Given the description of an element on the screen output the (x, y) to click on. 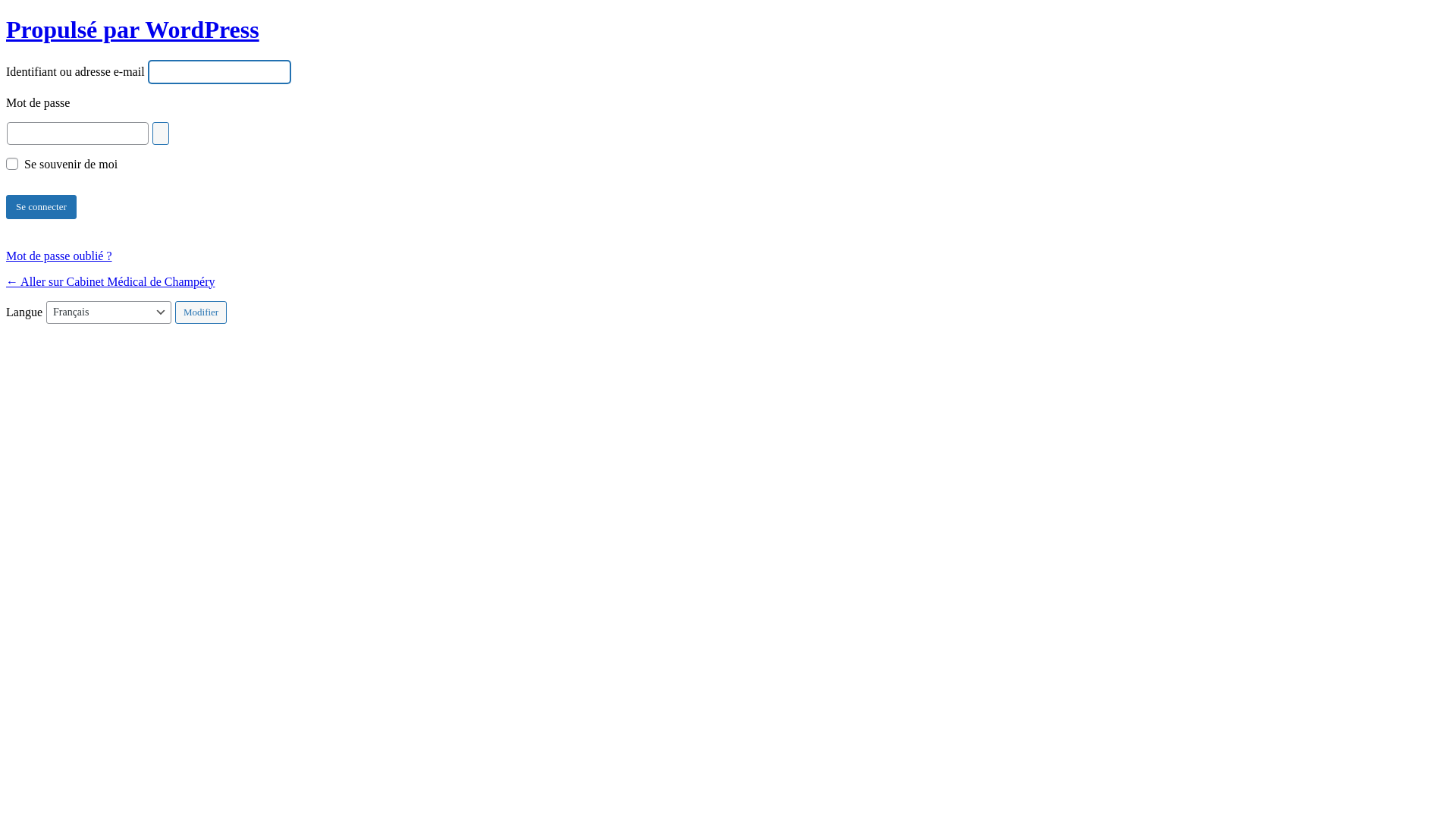
Modifier Element type: text (200, 312)
Se connecter Element type: text (41, 206)
